Given the description of an element on the screen output the (x, y) to click on. 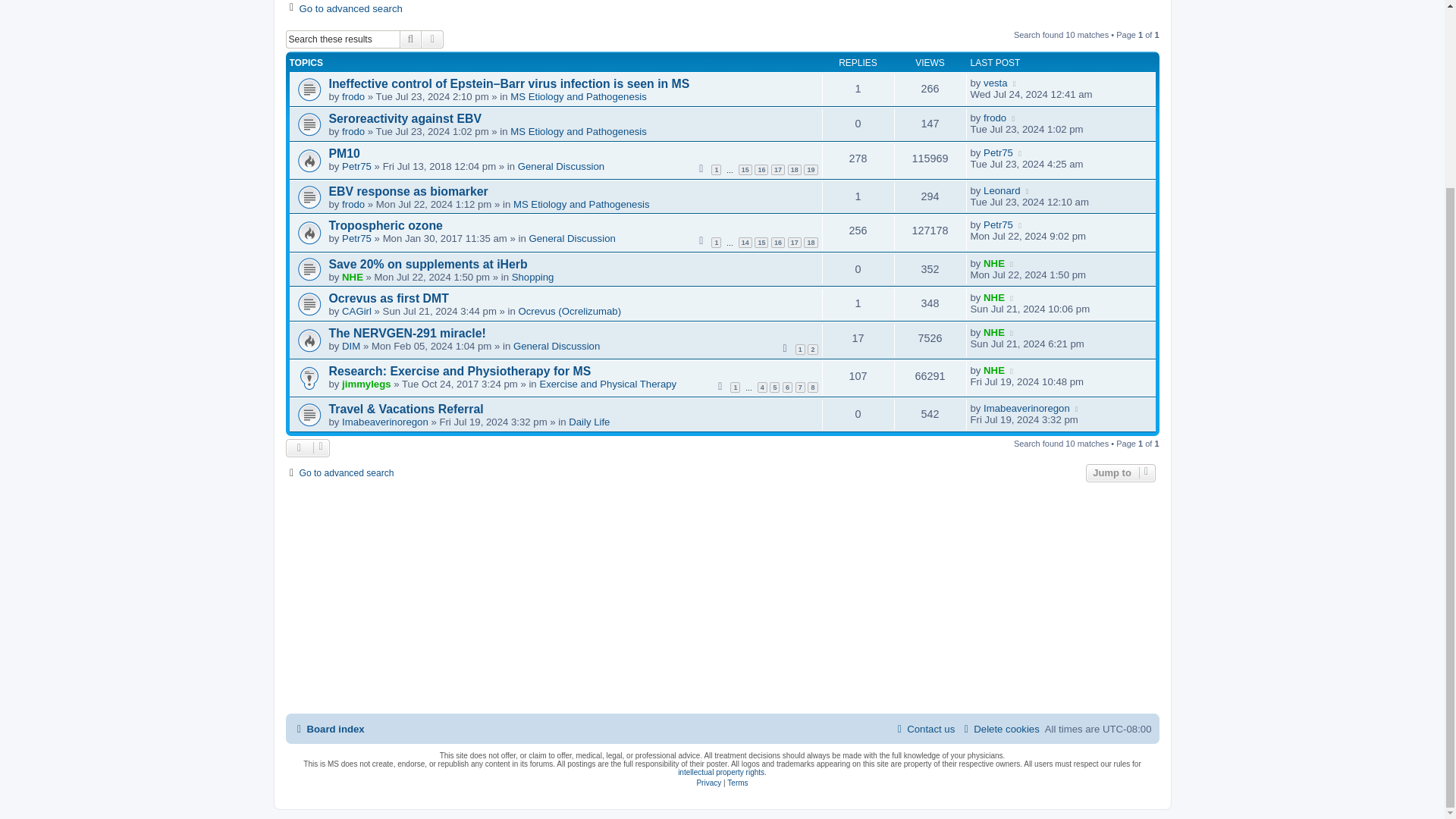
Go to last post (1014, 117)
MS Etiology and Pathogenesis (578, 131)
frodo (995, 117)
Search (410, 39)
Seroreactivity against EBV (405, 118)
Go to last post (1015, 82)
There are no new unread posts for this topic. (722, 160)
Advanced search (433, 39)
frodo (353, 131)
There are no new unread posts for this topic. (722, 88)
Search (410, 39)
MS Etiology and Pathogenesis (578, 96)
Go to advanced search (343, 8)
frodo (353, 96)
vesta (995, 82)
